Given the description of an element on the screen output the (x, y) to click on. 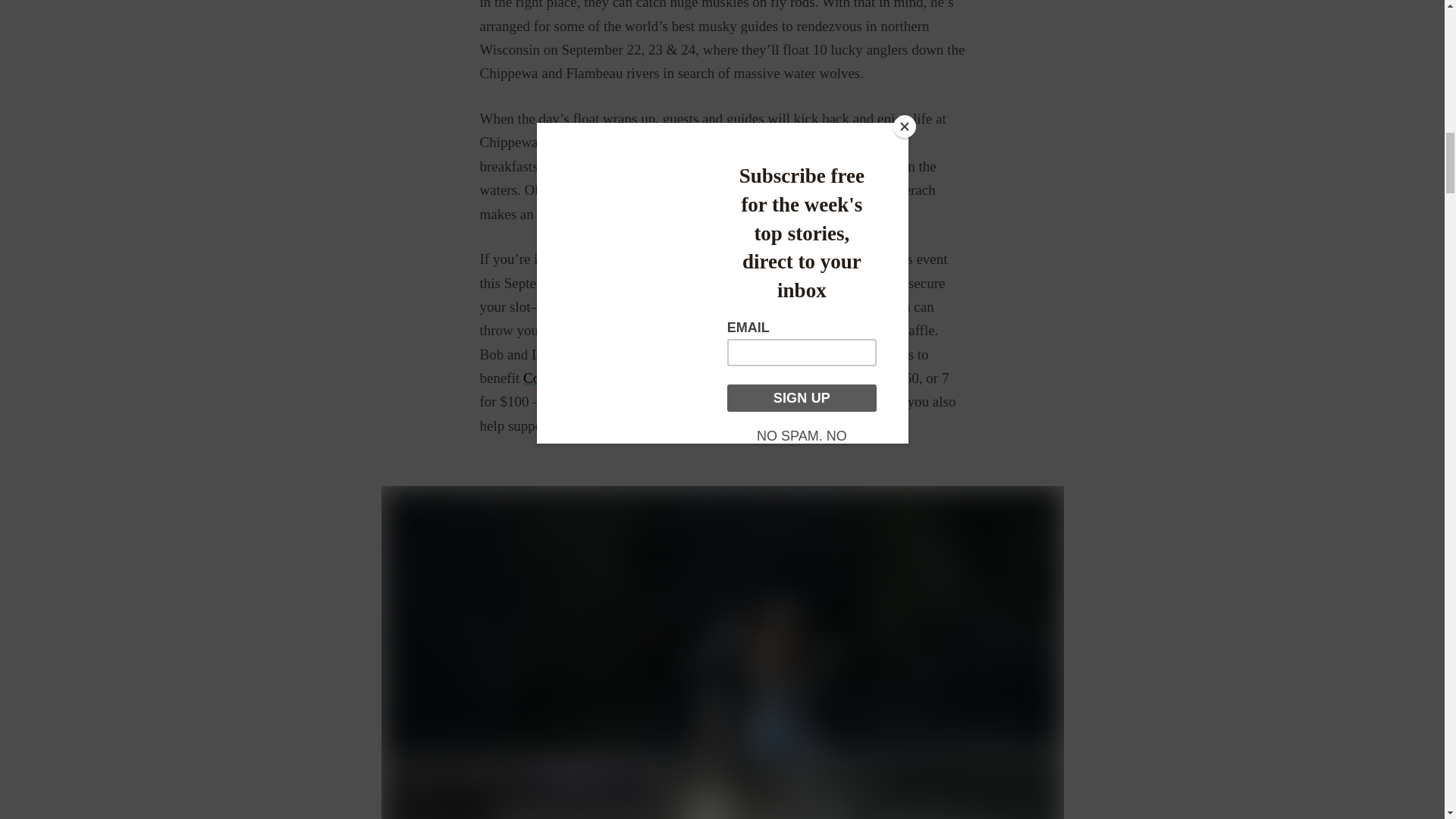
Conservation Hawks (582, 377)
